Given the description of an element on the screen output the (x, y) to click on. 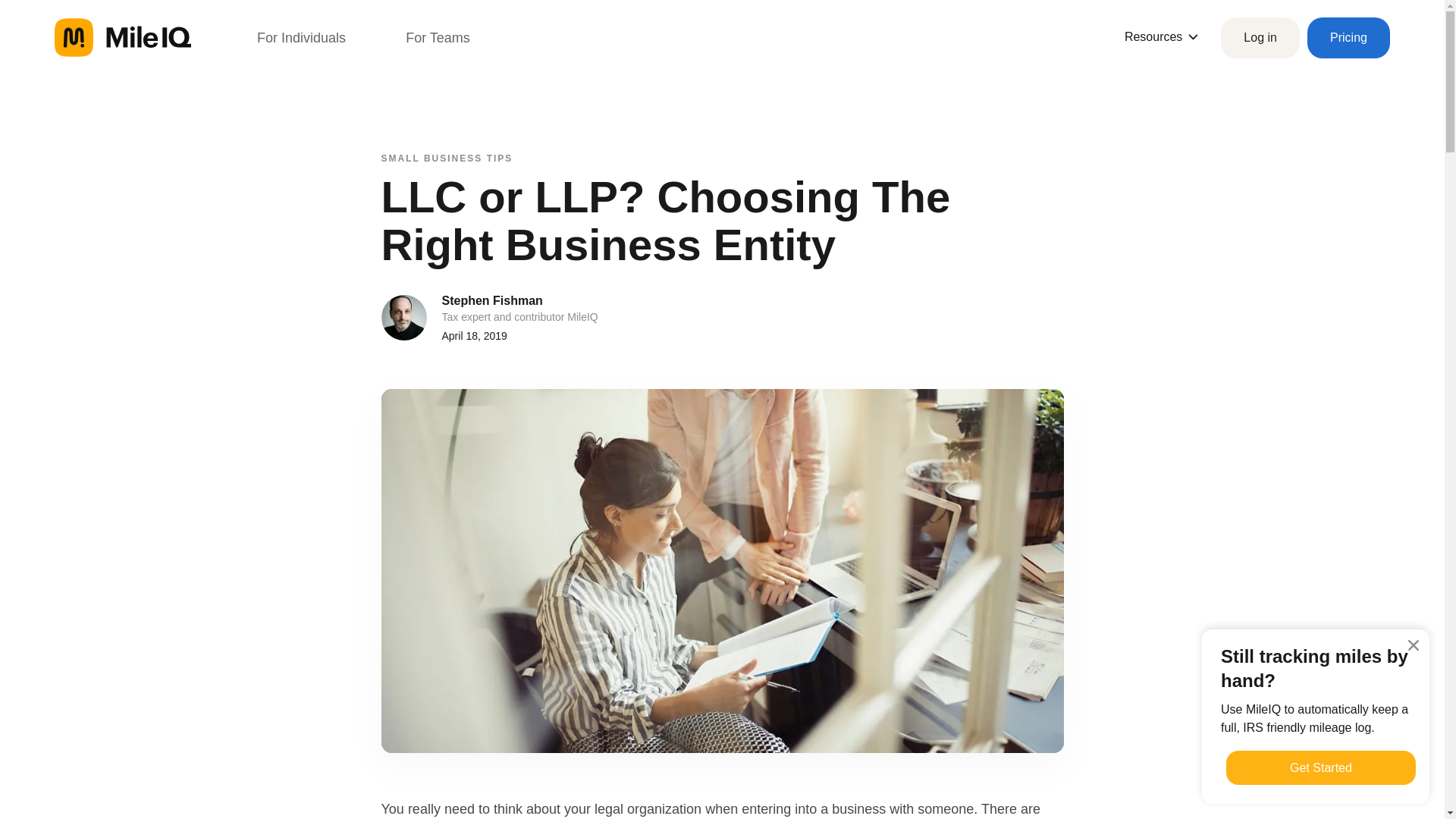
Resources (1161, 37)
Log in (1260, 37)
For Individuals (300, 37)
Get Started (1320, 767)
For Teams (437, 37)
Pricing (1348, 37)
Search (30, 15)
